Given the description of an element on the screen output the (x, y) to click on. 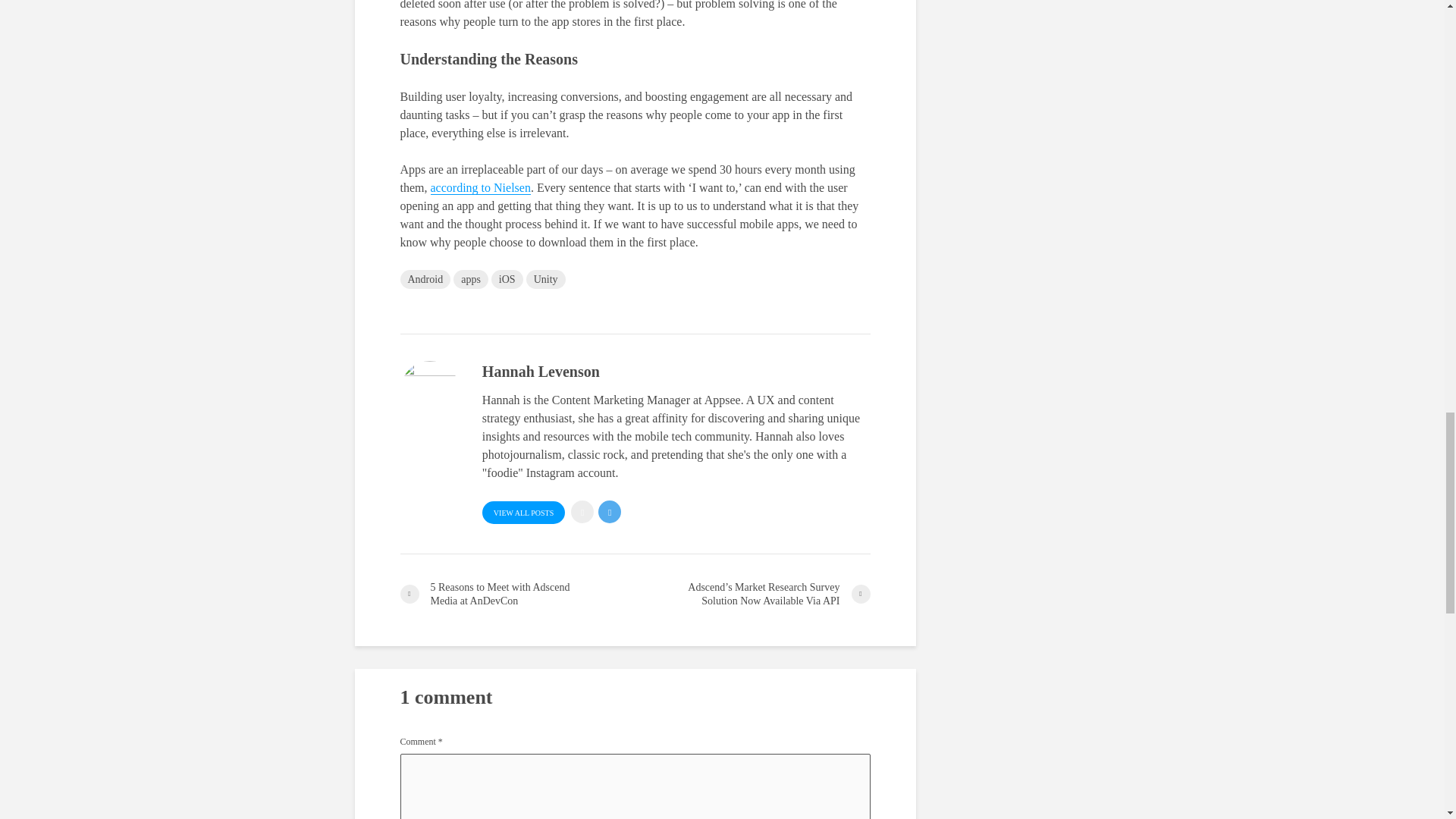
5 Reasons to Meet with Adscend Media at AnDevCon (517, 594)
VIEW ALL POSTS (522, 512)
iOS (507, 279)
according to Nielsen (480, 187)
Android (425, 279)
Unity (545, 279)
apps (469, 279)
